Given the description of an element on the screen output the (x, y) to click on. 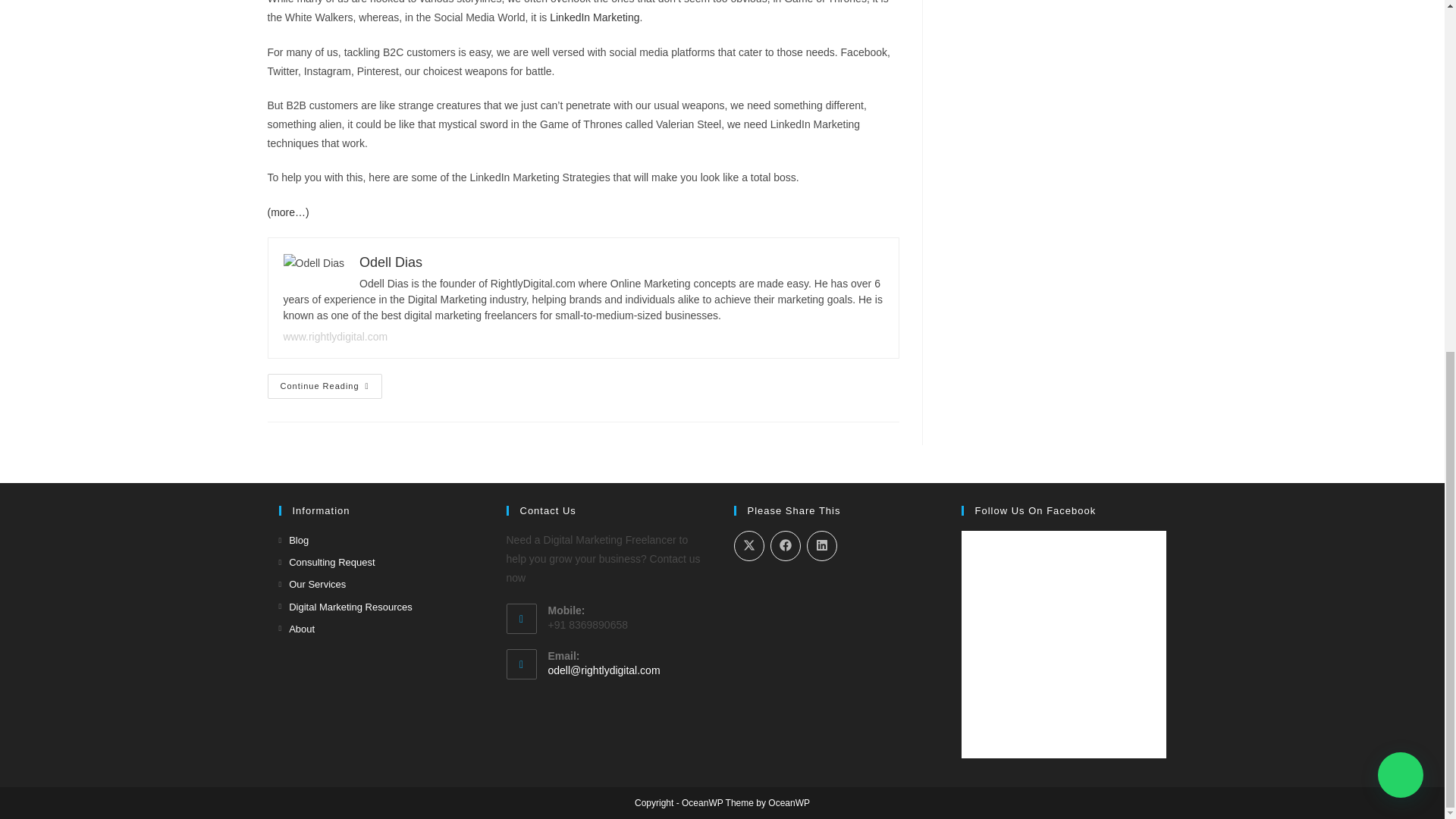
Share on X (748, 545)
Odell Dias (390, 262)
www.rightlydigital.com (335, 336)
Share on LinkedIn (821, 545)
Share on Facebook (785, 545)
LinkedIn Marketing (594, 17)
